Given the description of an element on the screen output the (x, y) to click on. 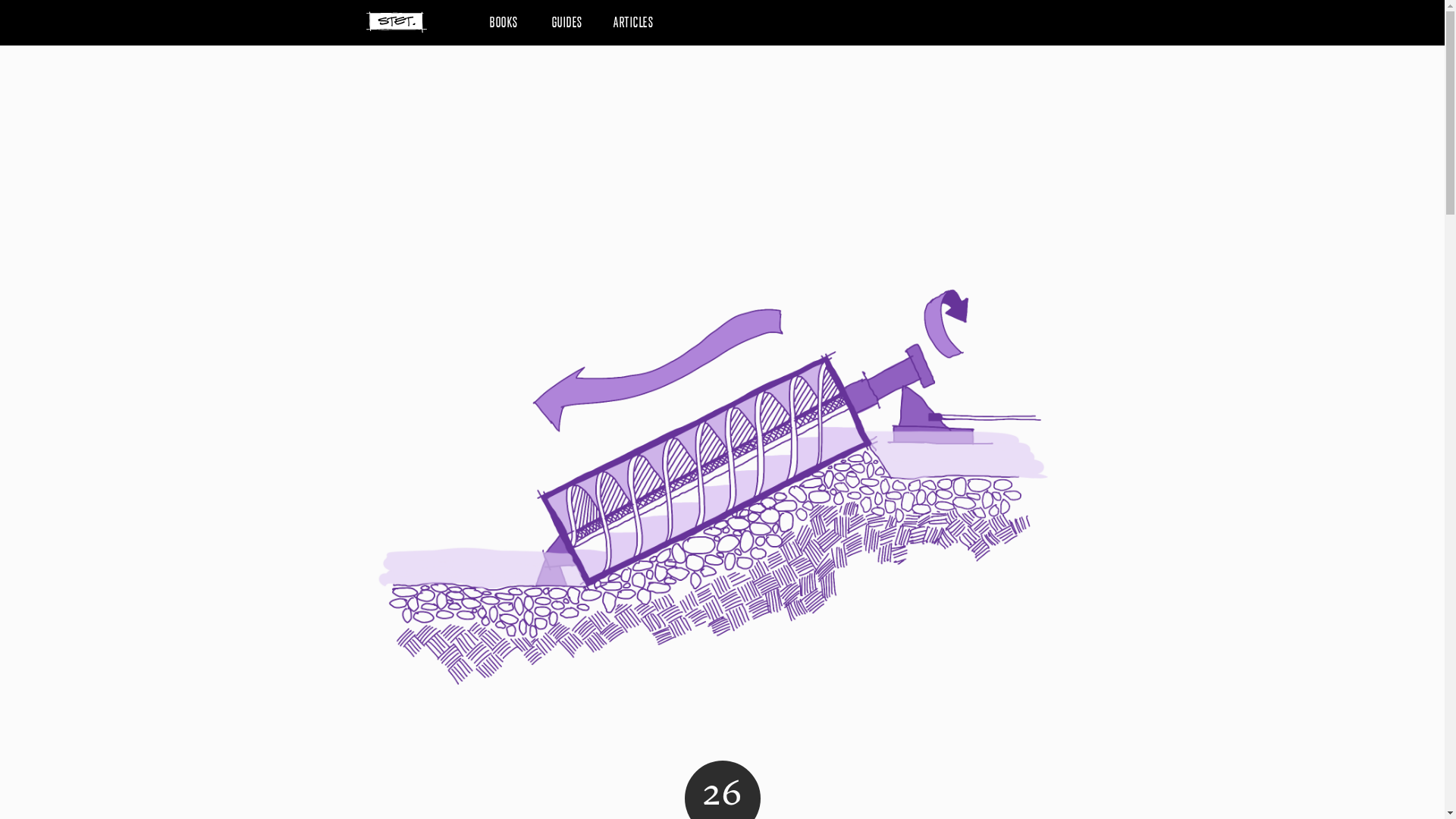
ARTICLES Element type: text (632, 21)
BOOKS Element type: text (503, 21)
GUIDES Element type: text (566, 21)
